Given the description of an element on the screen output the (x, y) to click on. 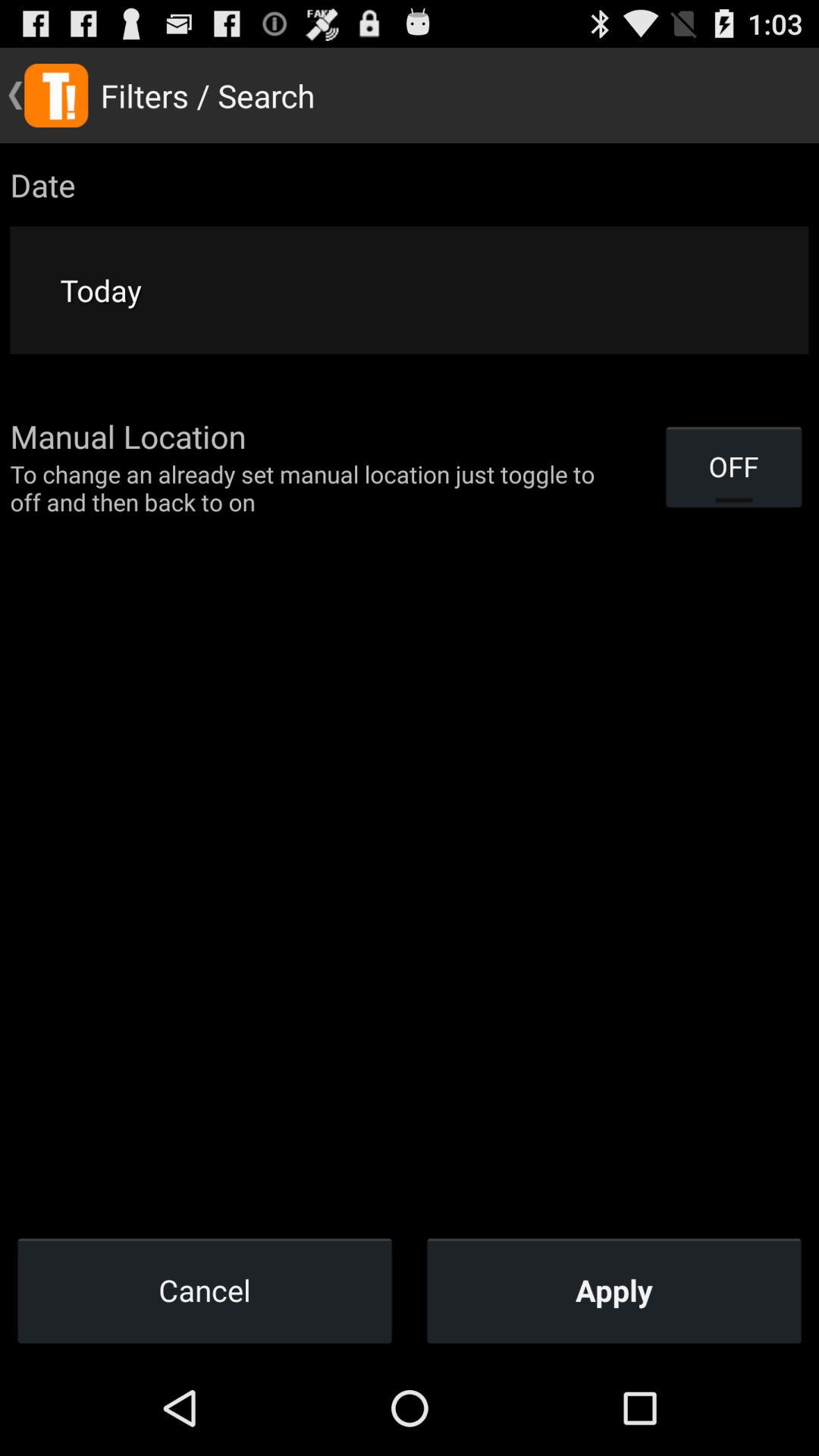
select icon below to change an icon (204, 1290)
